Given the description of an element on the screen output the (x, y) to click on. 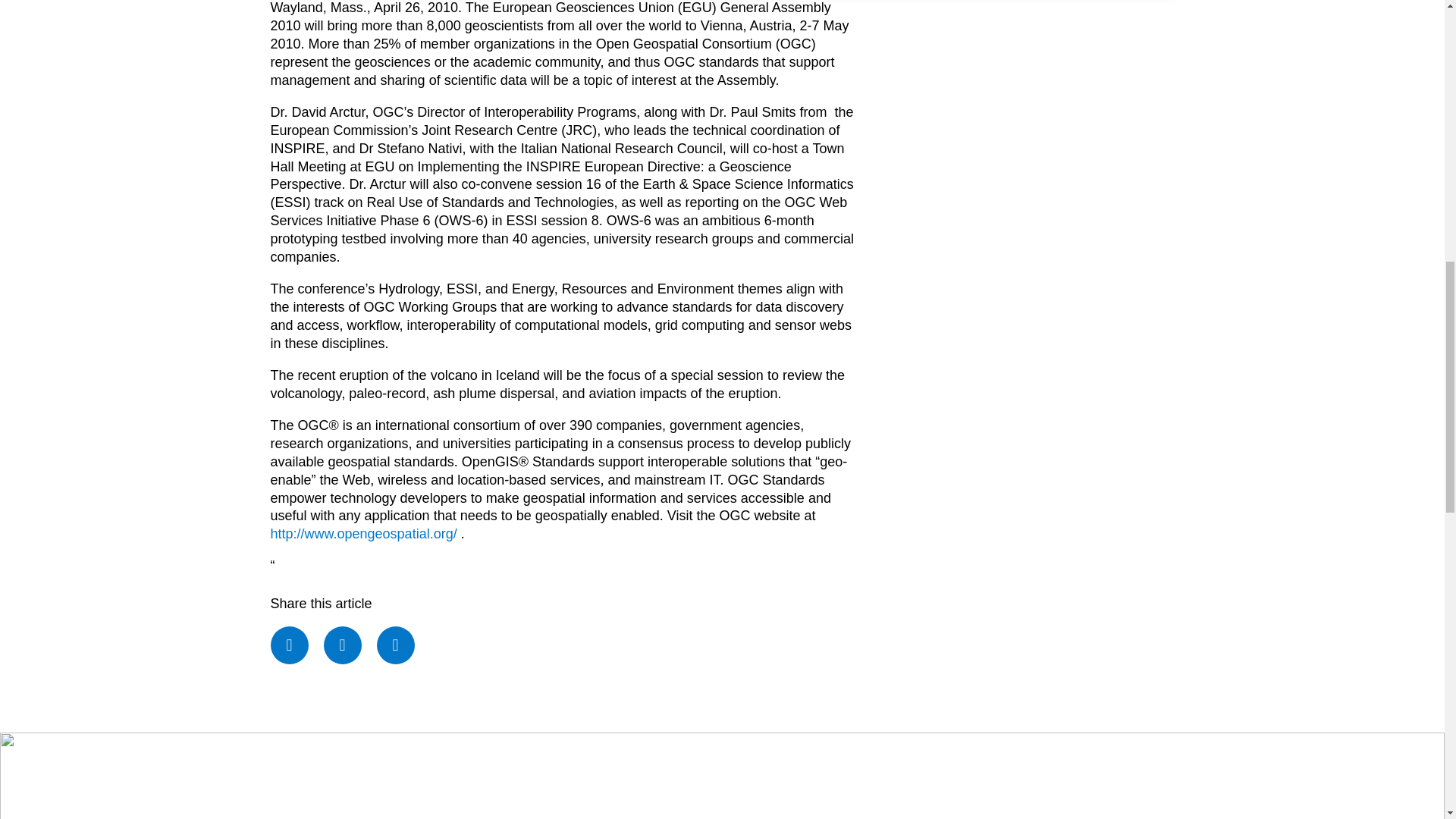
LinkedIn (395, 645)
Twitter (342, 645)
Facebook (288, 645)
